Given the description of an element on the screen output the (x, y) to click on. 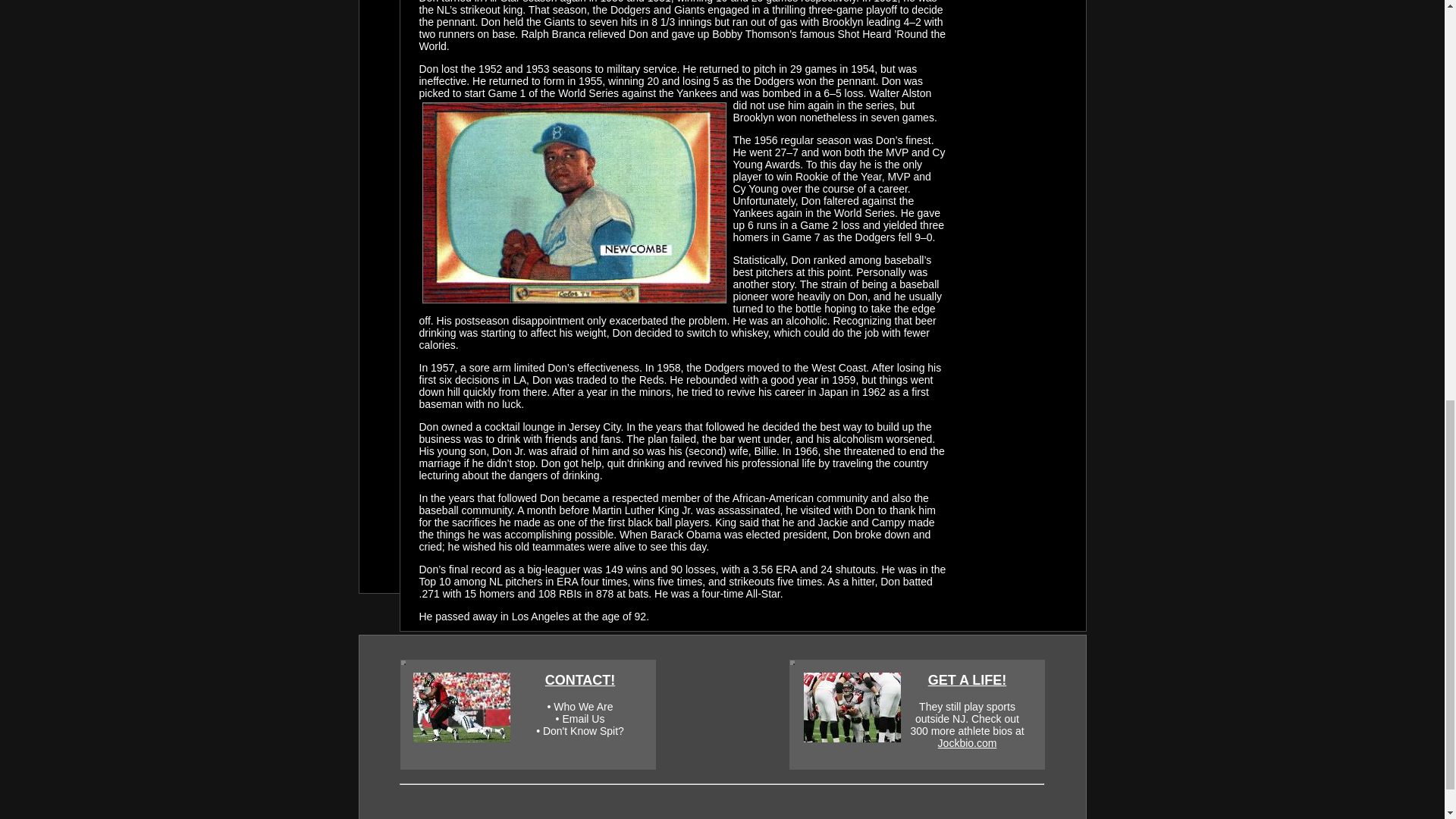
GET A LIFE! (967, 679)
Jockbio.com (967, 743)
CONTACT! (579, 679)
